Given the description of an element on the screen output the (x, y) to click on. 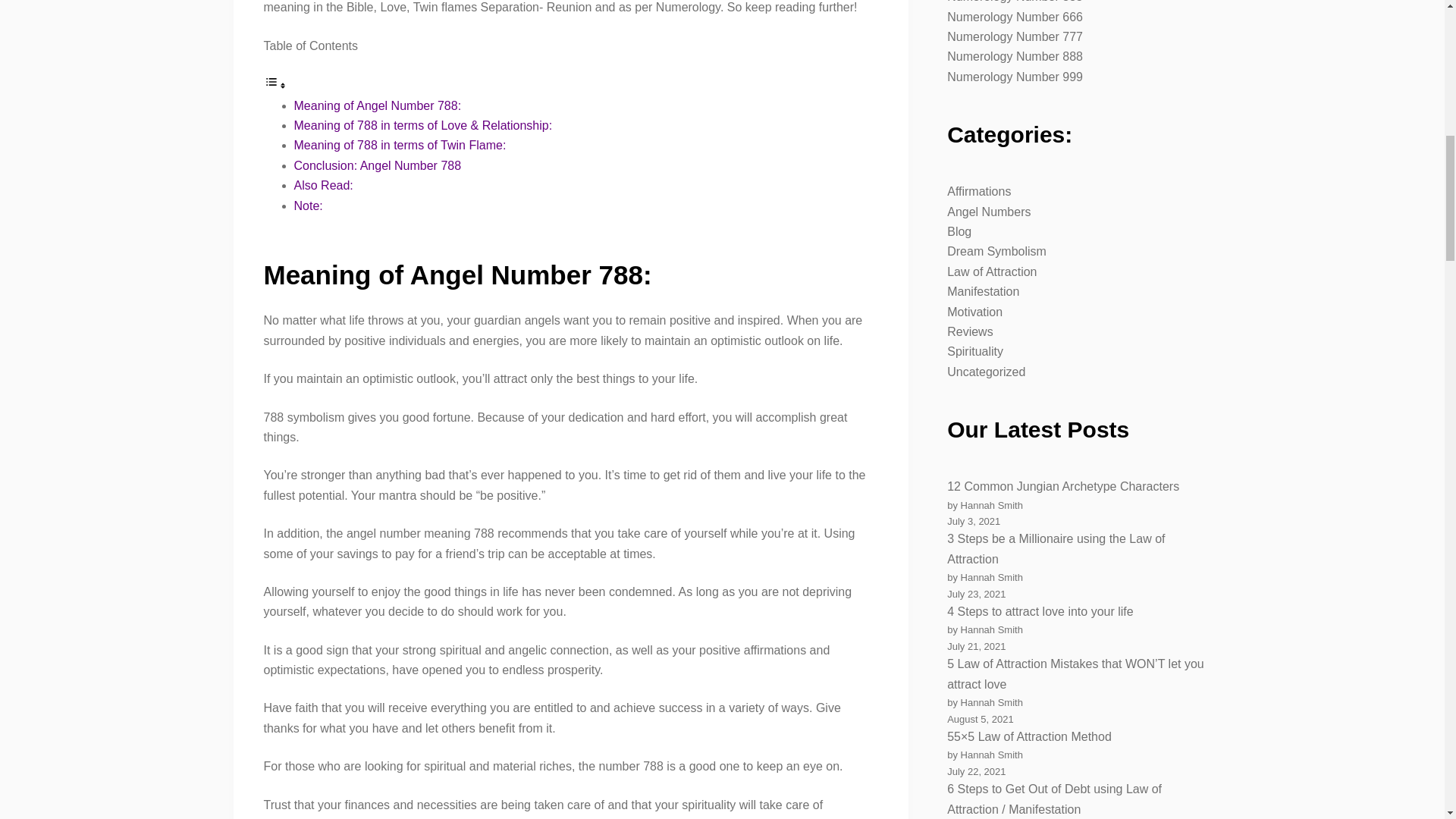
Also Read: (323, 185)
Conclusion: Angel Number 788 (377, 164)
Meaning of Angel Number 788: (377, 105)
Note: (308, 205)
Meaning of 788 in terms of Twin Flame: (400, 144)
